Given the description of an element on the screen output the (x, y) to click on. 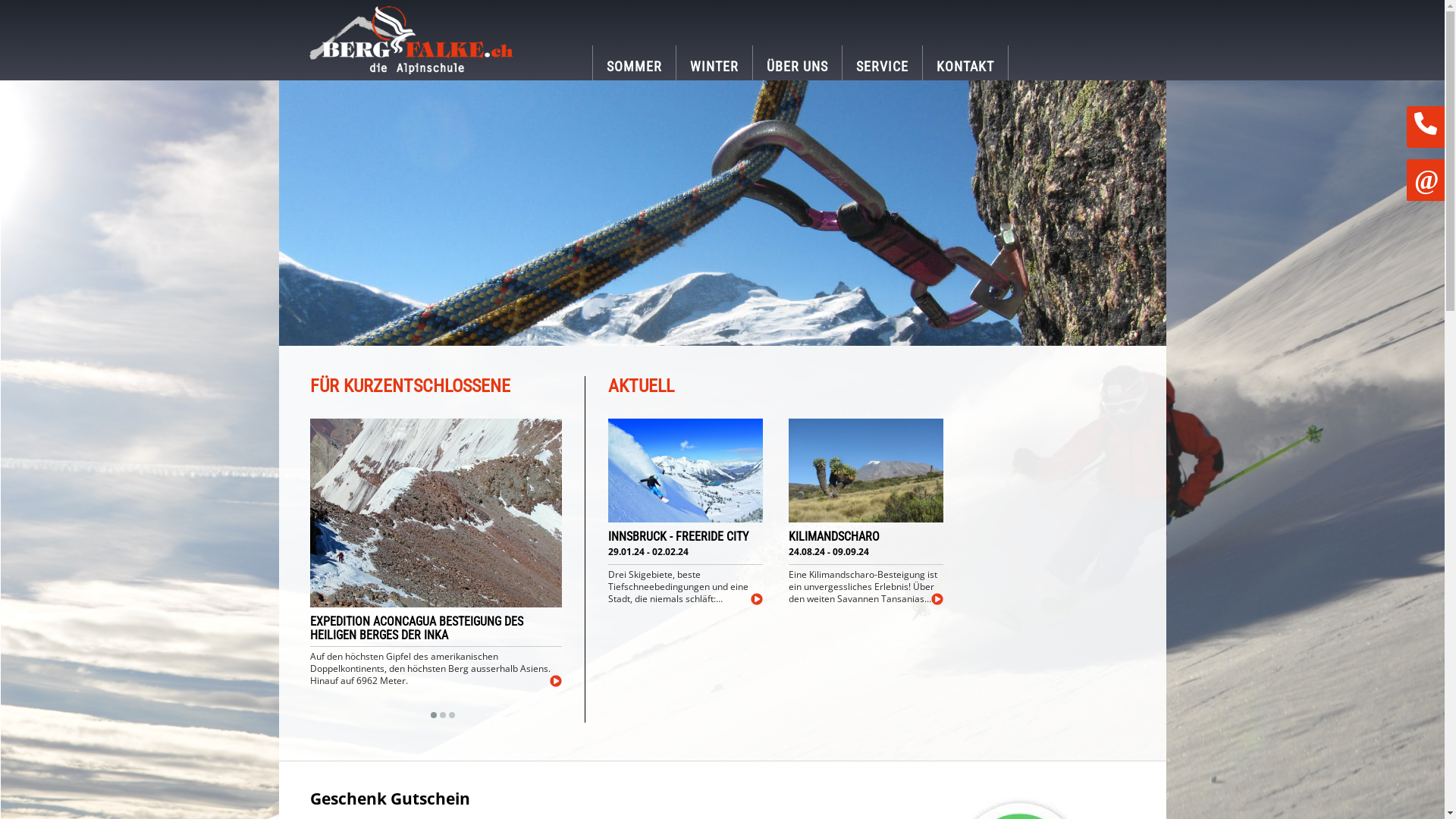
KONTAKT Element type: text (964, 62)
KILIMANDSCHARO Element type: text (865, 536)
SERVICE Element type: text (882, 62)
INNSBRUCK - FREERIDE CITY Element type: text (685, 536)
EXPEDITION ACONCAGUA BESTEIGUNG DES HEILIGEN BERGES DER INKA Element type: text (435, 628)
SOMMER Element type: text (634, 62)
WINTER Element type: text (714, 62)
